Given the description of an element on the screen output the (x, y) to click on. 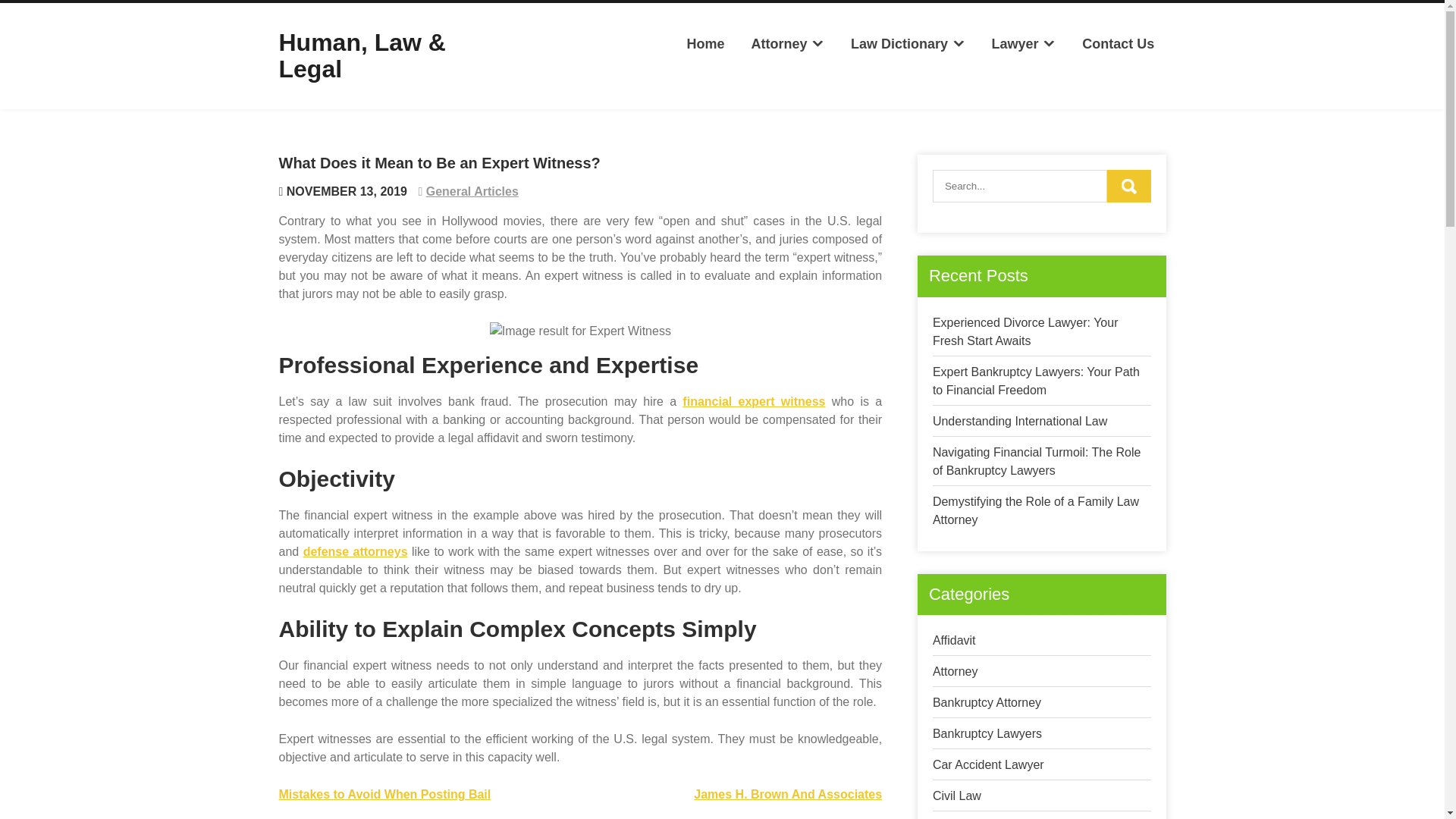
Law Dictionary (908, 44)
Home (705, 44)
Navigating Financial Turmoil: The Role of Bankruptcy Lawyers (1037, 460)
Affidavit (954, 640)
Lawyer (1023, 44)
financial expert witness (753, 400)
James H. Brown And Associates (788, 793)
Mistakes to Avoid When Posting Bail (385, 793)
Attorney (787, 44)
Contact Us (1118, 44)
Demystifying the Role of a Family Law Attorney (1035, 510)
Car Accident Lawyer (988, 764)
Search (1128, 185)
General Articles (472, 191)
Expert Bankruptcy Lawyers: Your Path to Financial Freedom (1036, 380)
